Given the description of an element on the screen output the (x, y) to click on. 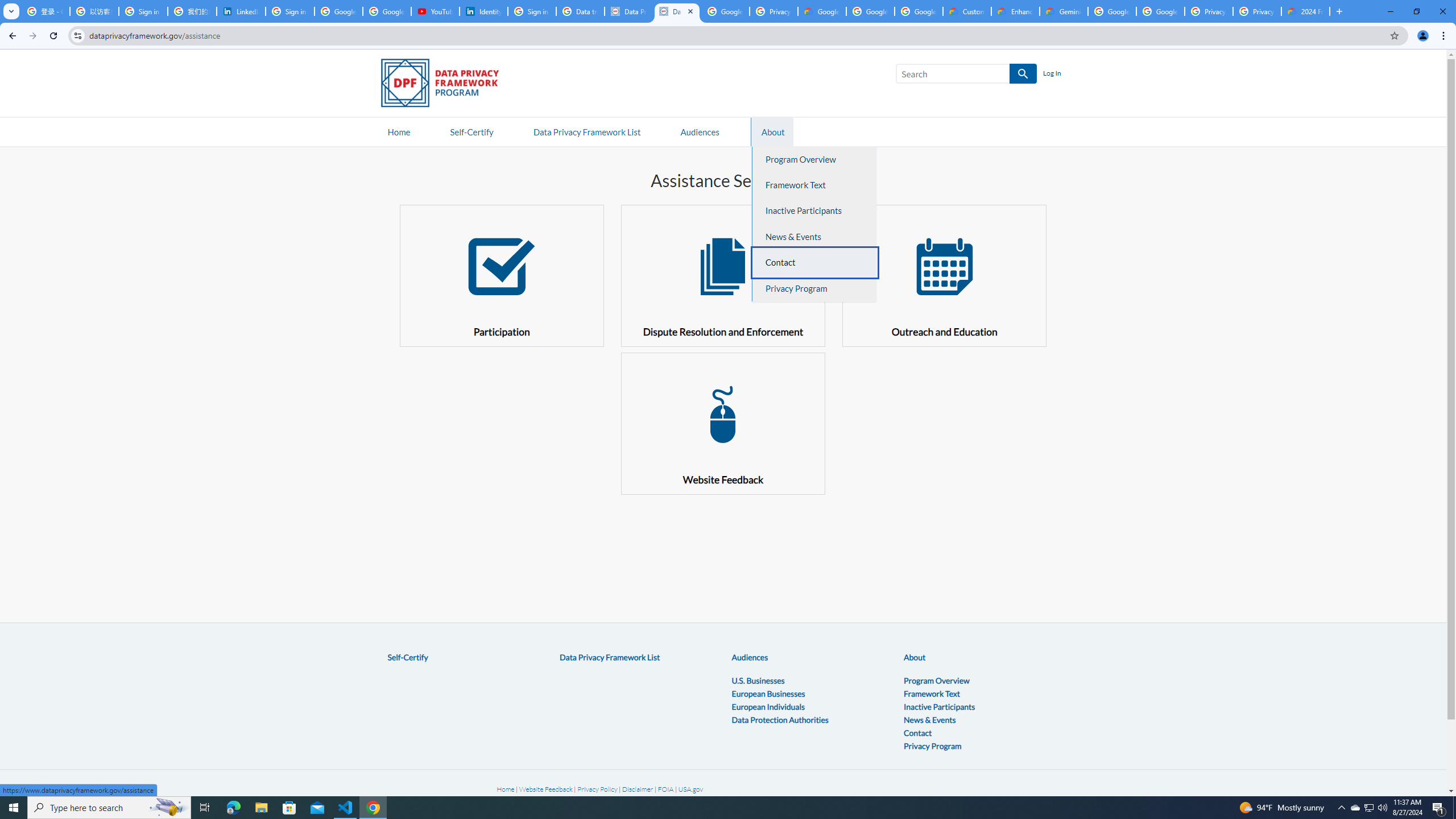
Inactive Participants (939, 706)
FOIA  (666, 788)
European Businesses (767, 692)
Sign in - Google Accounts (532, 11)
 Dispute Resolution and Enforcement (722, 275)
Privacy Program (933, 745)
Enhanced Support | Google Cloud (1015, 11)
Data Privacy Framework Logo - Link to Homepage (445, 85)
